Given the description of an element on the screen output the (x, y) to click on. 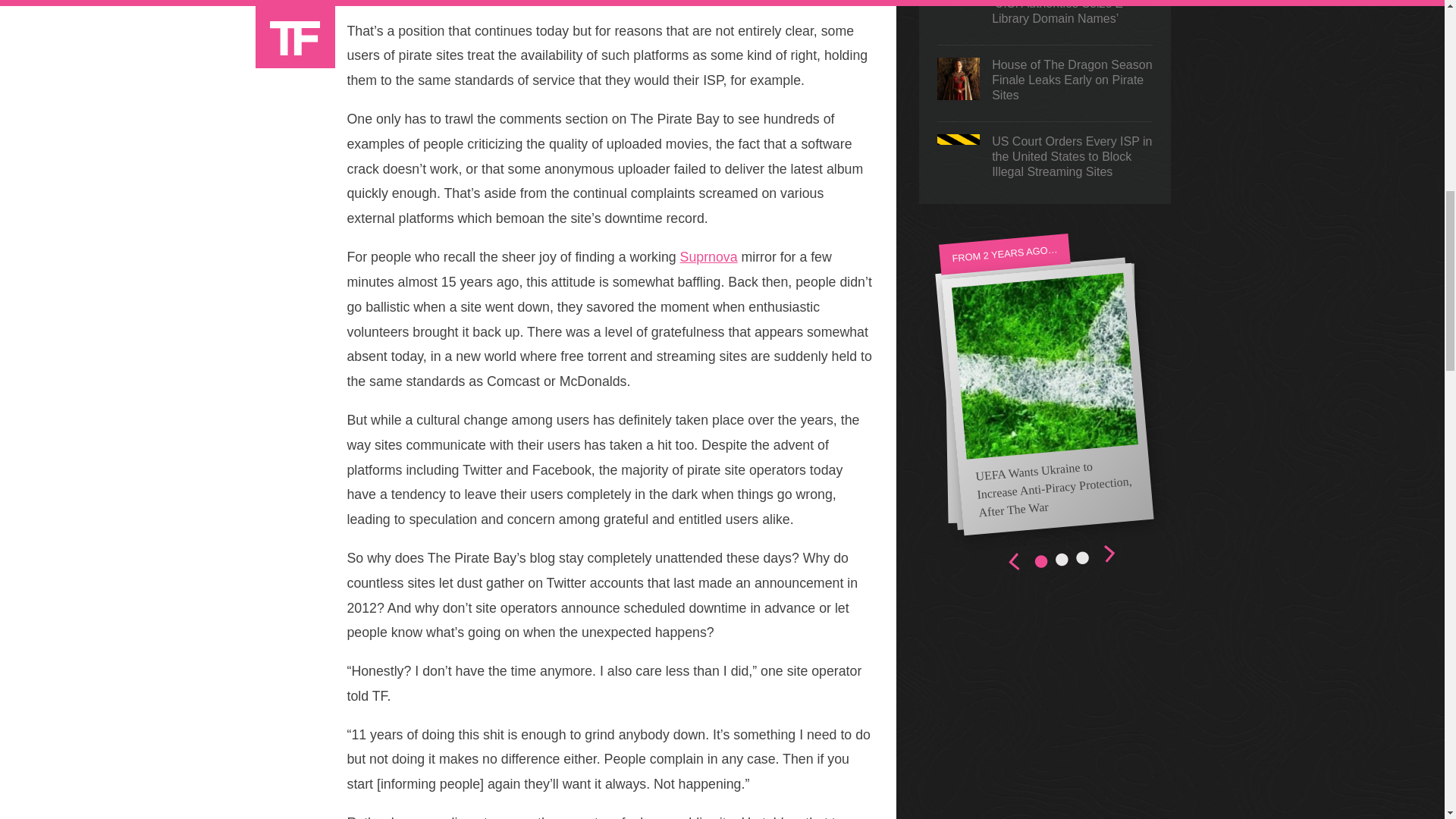
Suprnova (708, 256)
